Given the description of an element on the screen output the (x, y) to click on. 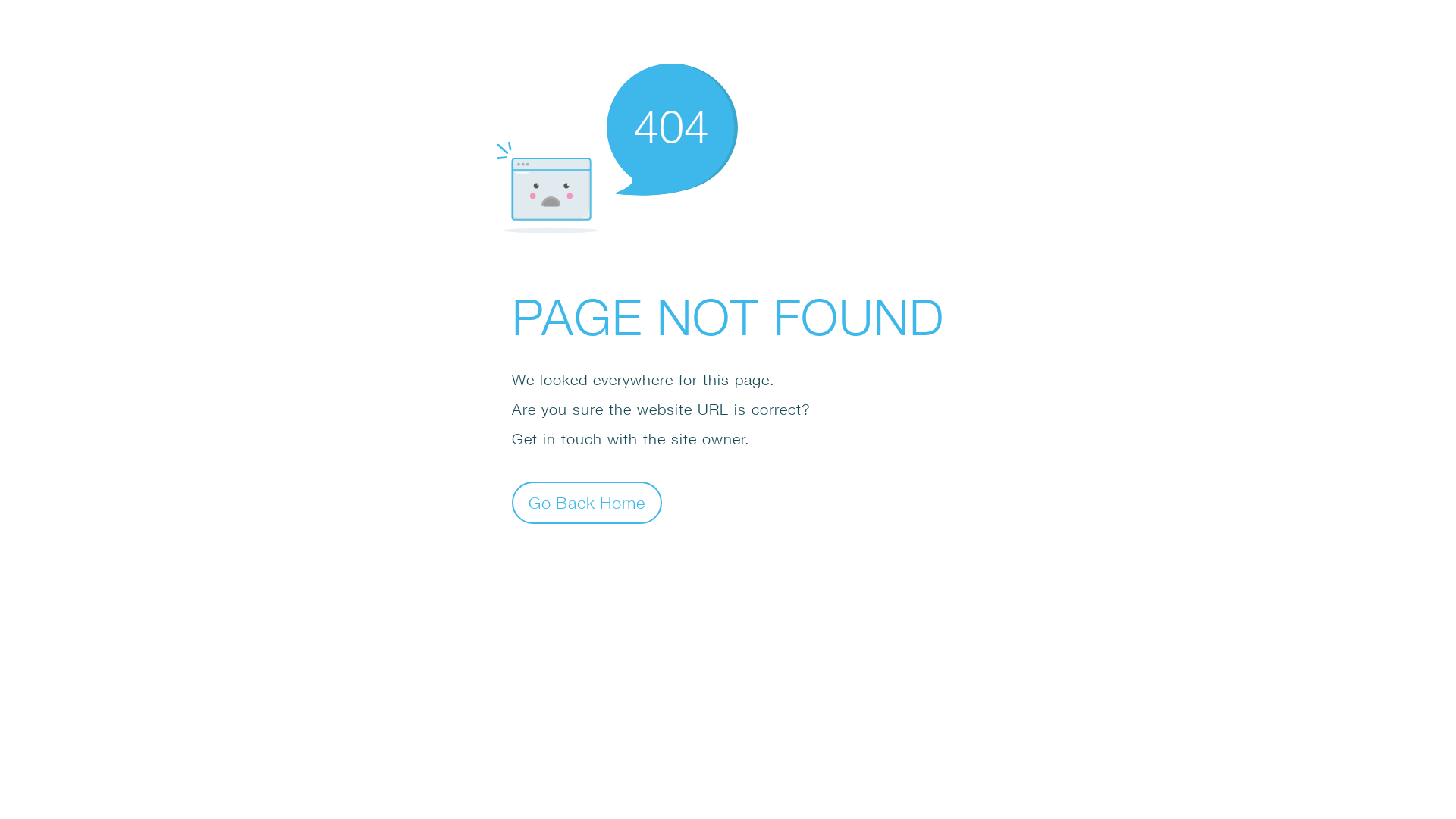
Go Back Home Element type: text (586, 502)
